Given the description of an element on the screen output the (x, y) to click on. 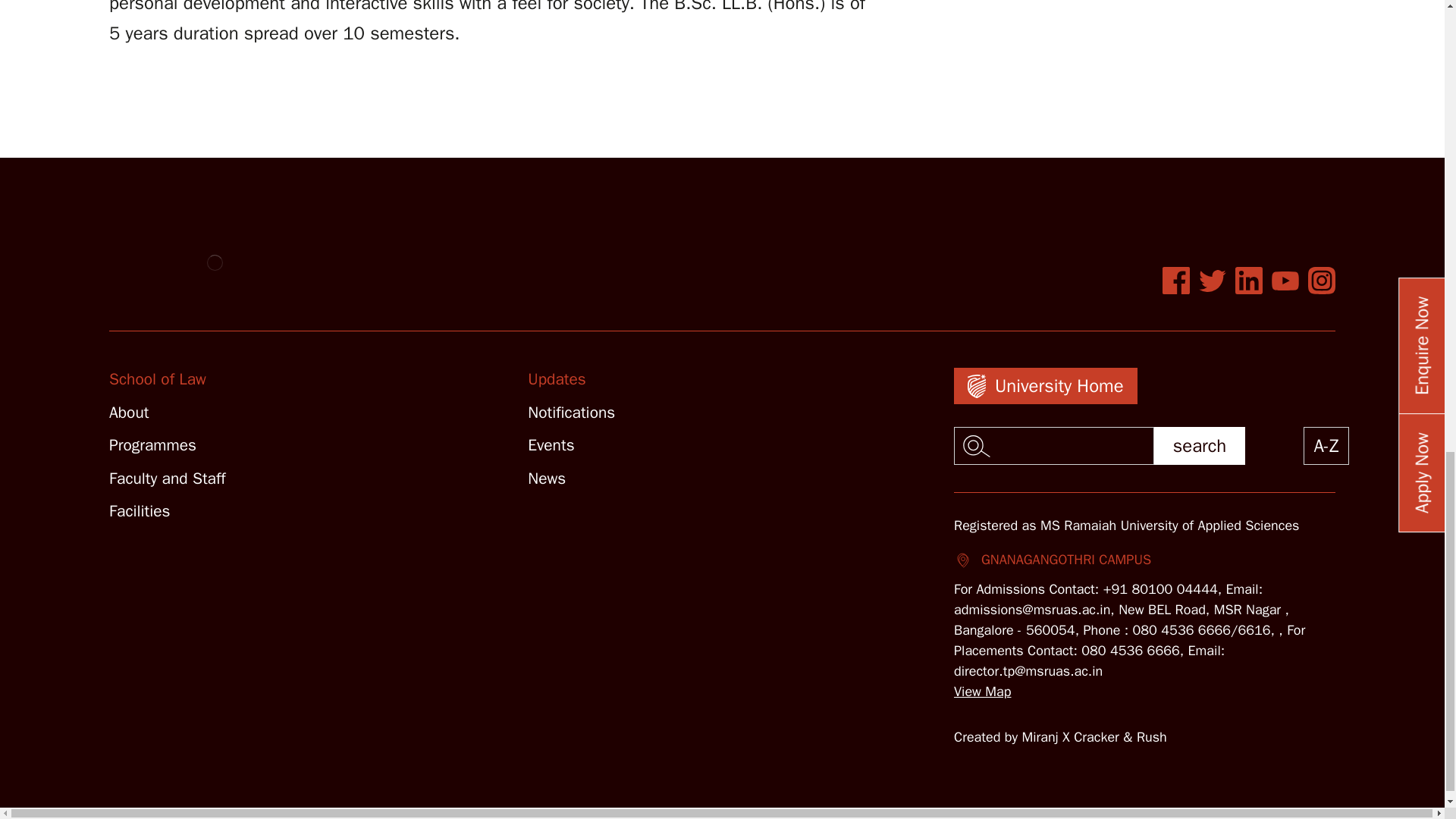
Linkedin (1248, 280)
Events (550, 444)
Faculty and Staff (167, 478)
Programmes (152, 444)
Notifications (570, 412)
Facebook (1175, 280)
Instagram (1321, 280)
About (128, 412)
Youtube (1284, 280)
News (546, 478)
